Given the description of an element on the screen output the (x, y) to click on. 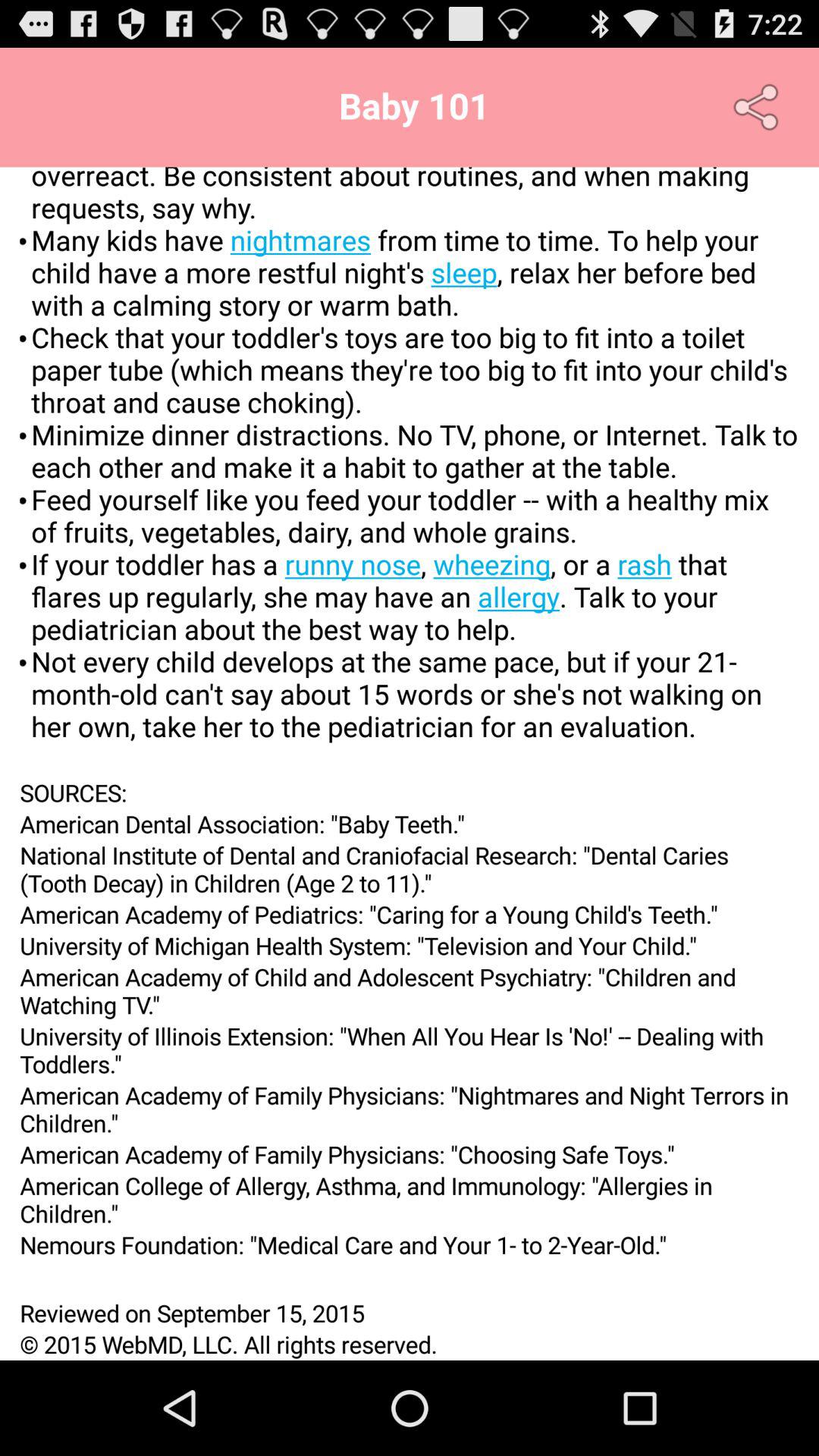
turn on item below the american college of icon (409, 1244)
